Given the description of an element on the screen output the (x, y) to click on. 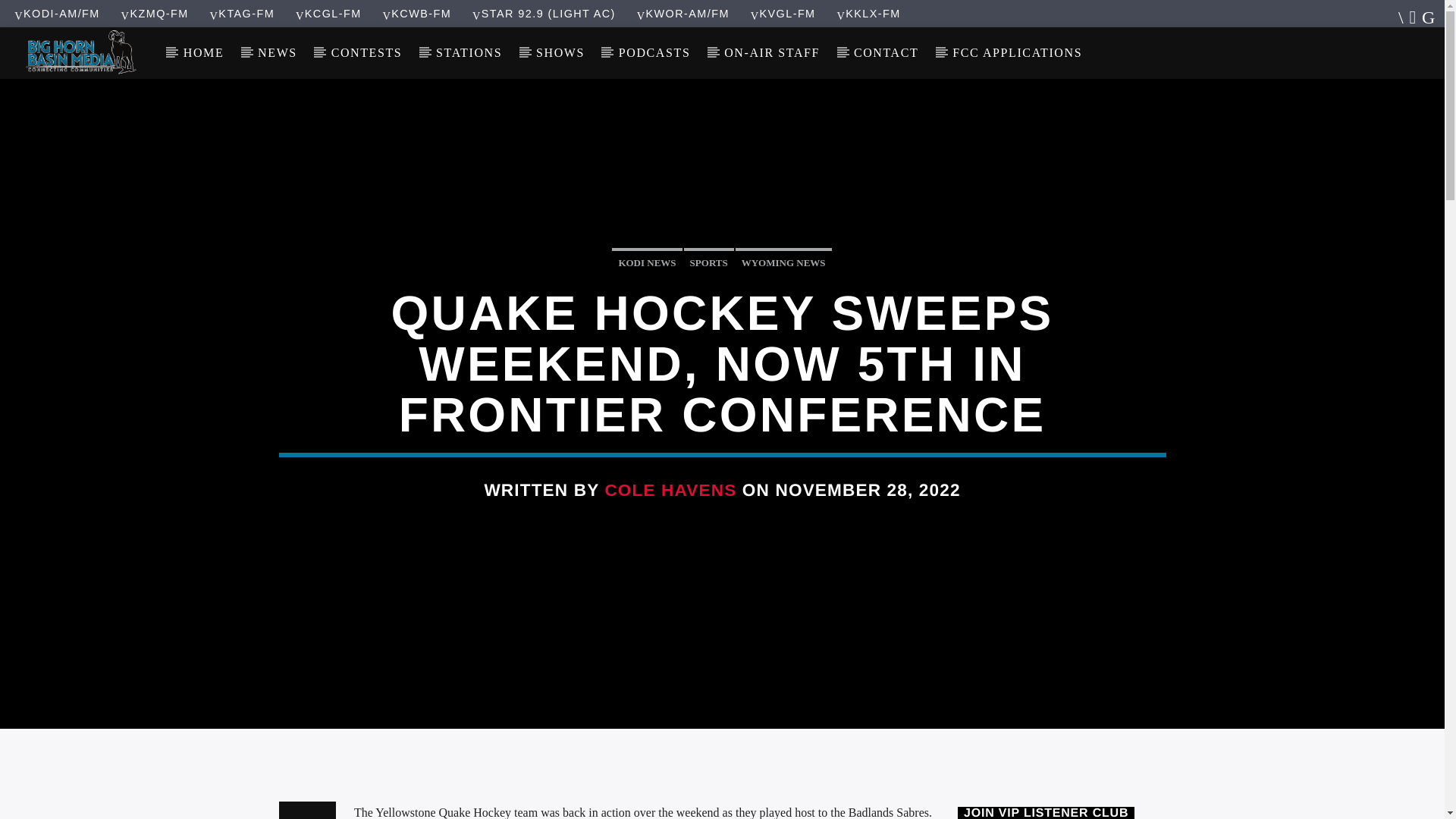
HOME (202, 52)
KVGL-FM (783, 13)
KCGL-FM (328, 13)
STATIONS (469, 52)
Posts by Cole Havens (670, 489)
NEWS (277, 52)
KTAG-FM (242, 13)
KKLX-FM (867, 13)
SHOWS (560, 52)
KCWB-FM (416, 13)
